Given the description of an element on the screen output the (x, y) to click on. 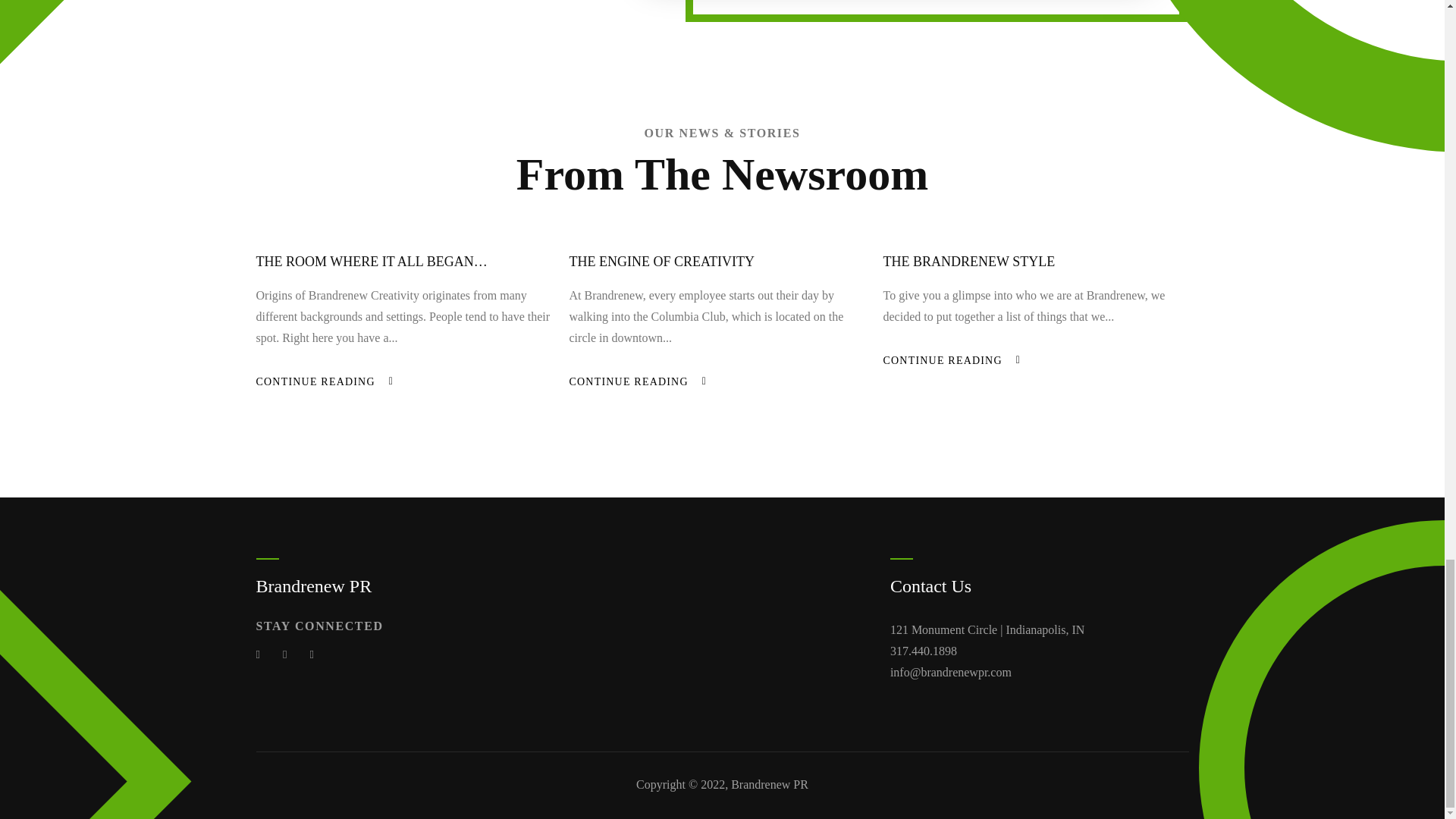
CONTINUE READING (627, 381)
CONTINUE READING (941, 360)
THE ENGINE OF CREATIVITY (661, 261)
CONTINUE READING (315, 381)
THE BRANDRENEW STYLE (968, 261)
